Given the description of an element on the screen output the (x, y) to click on. 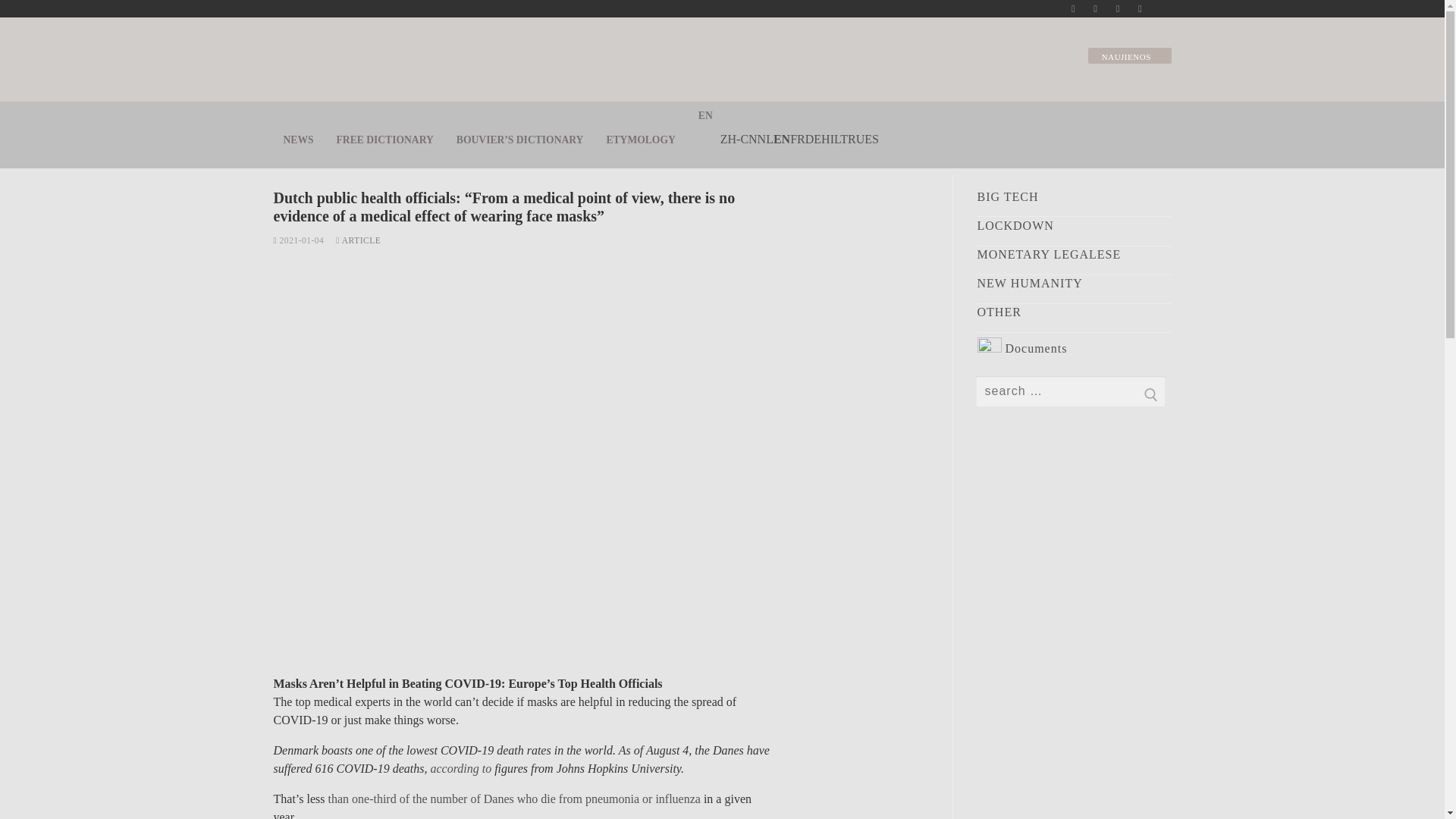
ES (871, 139)
NL (765, 139)
HI (827, 139)
EN (781, 139)
2021-01-04 (298, 239)
Dutch (765, 139)
English (781, 139)
ZH-CN (738, 139)
ETYMOLOGY (639, 139)
French (797, 139)
according to (460, 768)
DE (813, 139)
FR (797, 139)
